Given the description of an element on the screen output the (x, y) to click on. 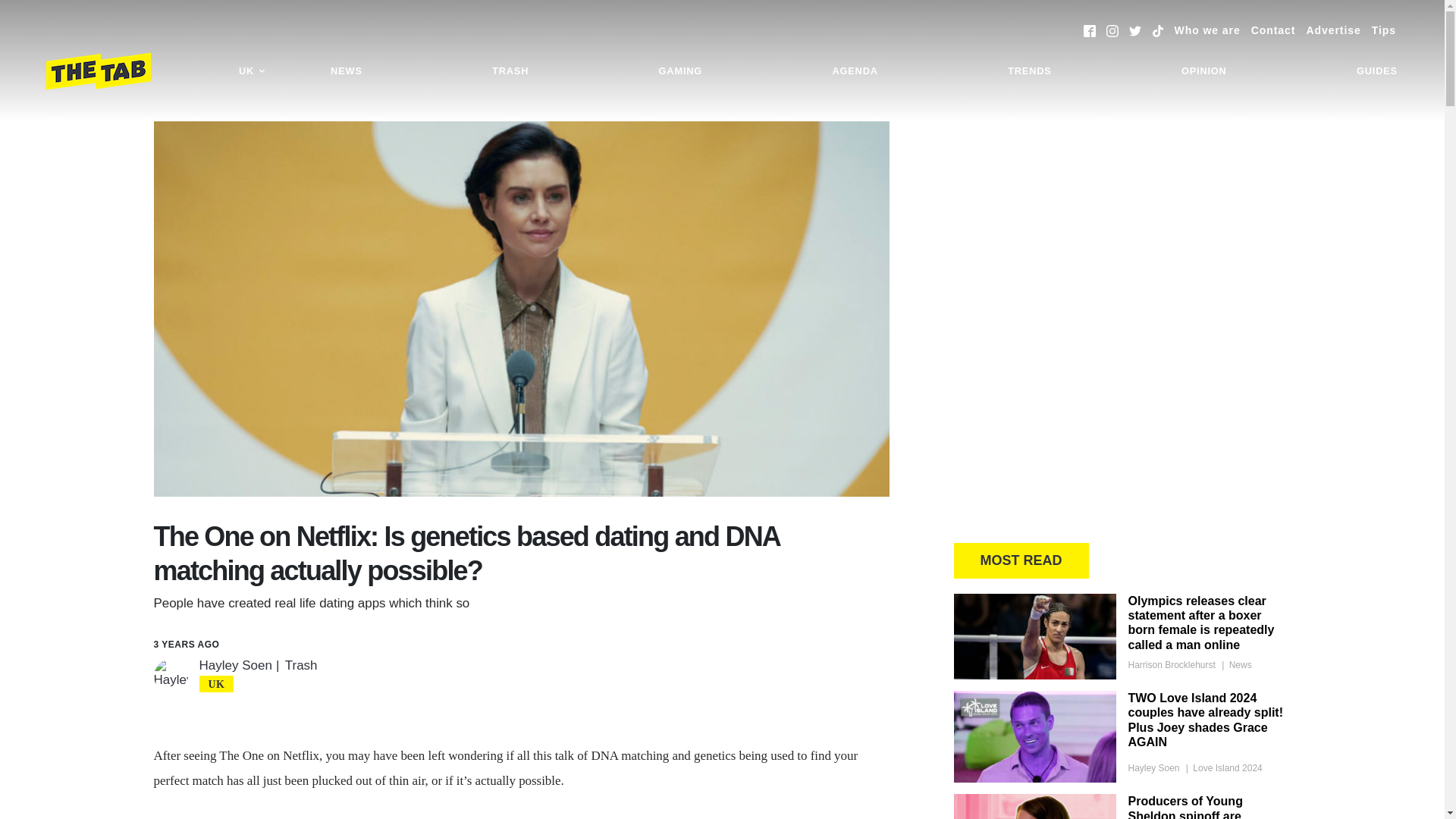
TRASH (510, 71)
Who we are (1207, 29)
Advertise (1332, 29)
GUIDES (1377, 71)
NEWS (346, 71)
OPINION (1204, 71)
AGENDA (854, 71)
Contact (1272, 29)
TRENDS (1028, 71)
Tips (1383, 29)
GAMING (680, 71)
UK (252, 71)
